Given the description of an element on the screen output the (x, y) to click on. 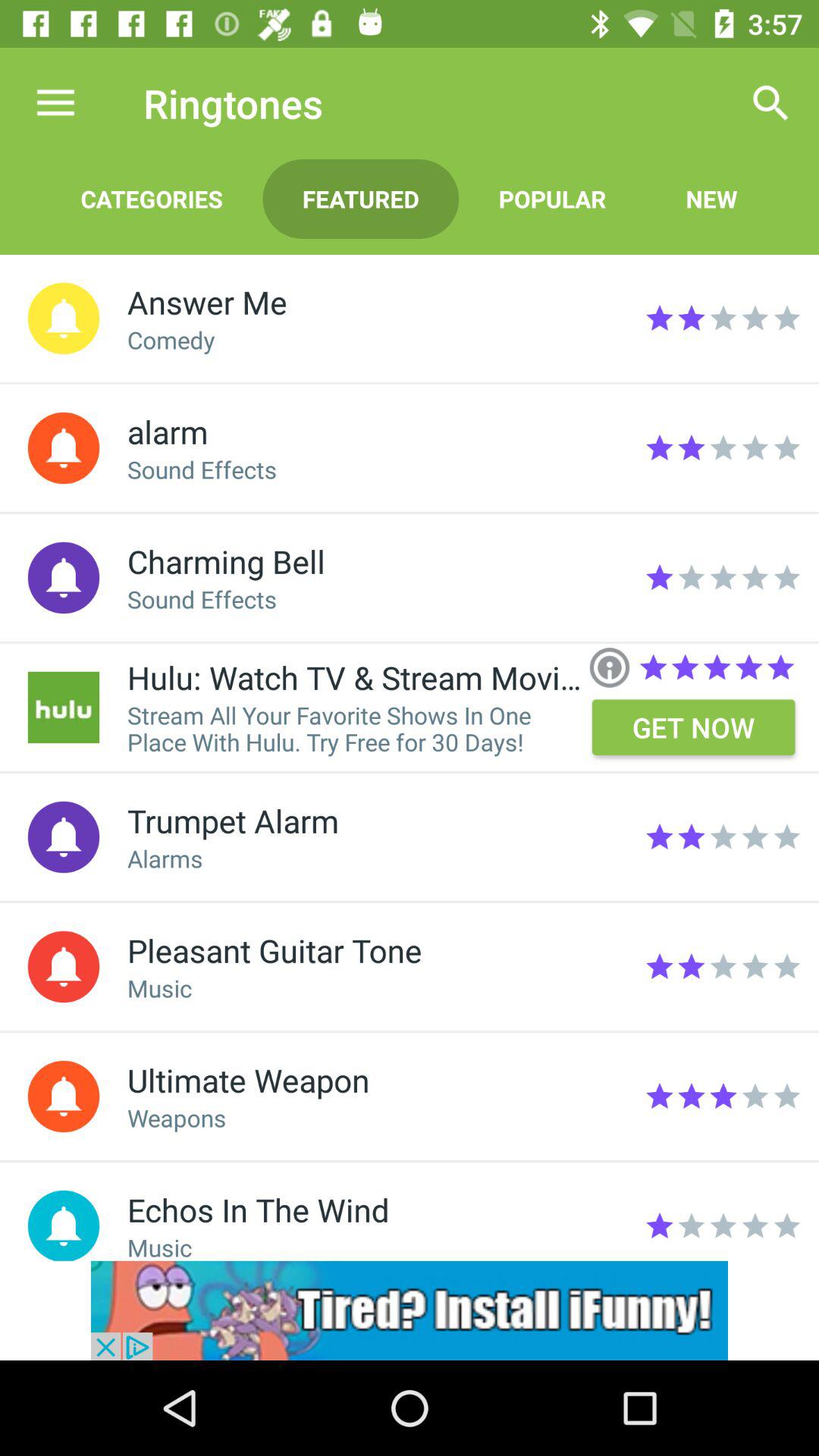
open hulu (63, 707)
